Given the description of an element on the screen output the (x, y) to click on. 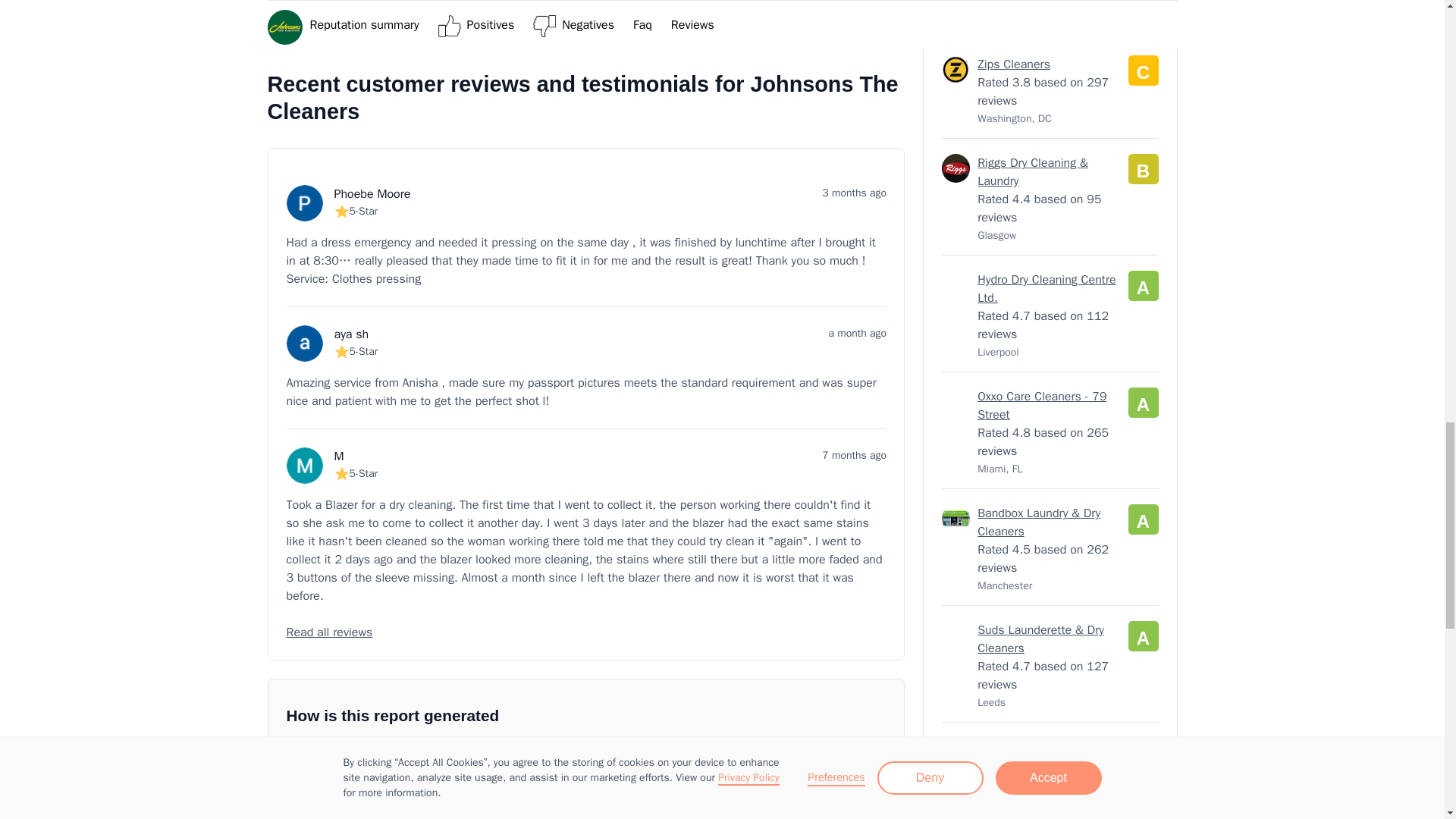
Read all reviews (586, 632)
